Given the description of an element on the screen output the (x, y) to click on. 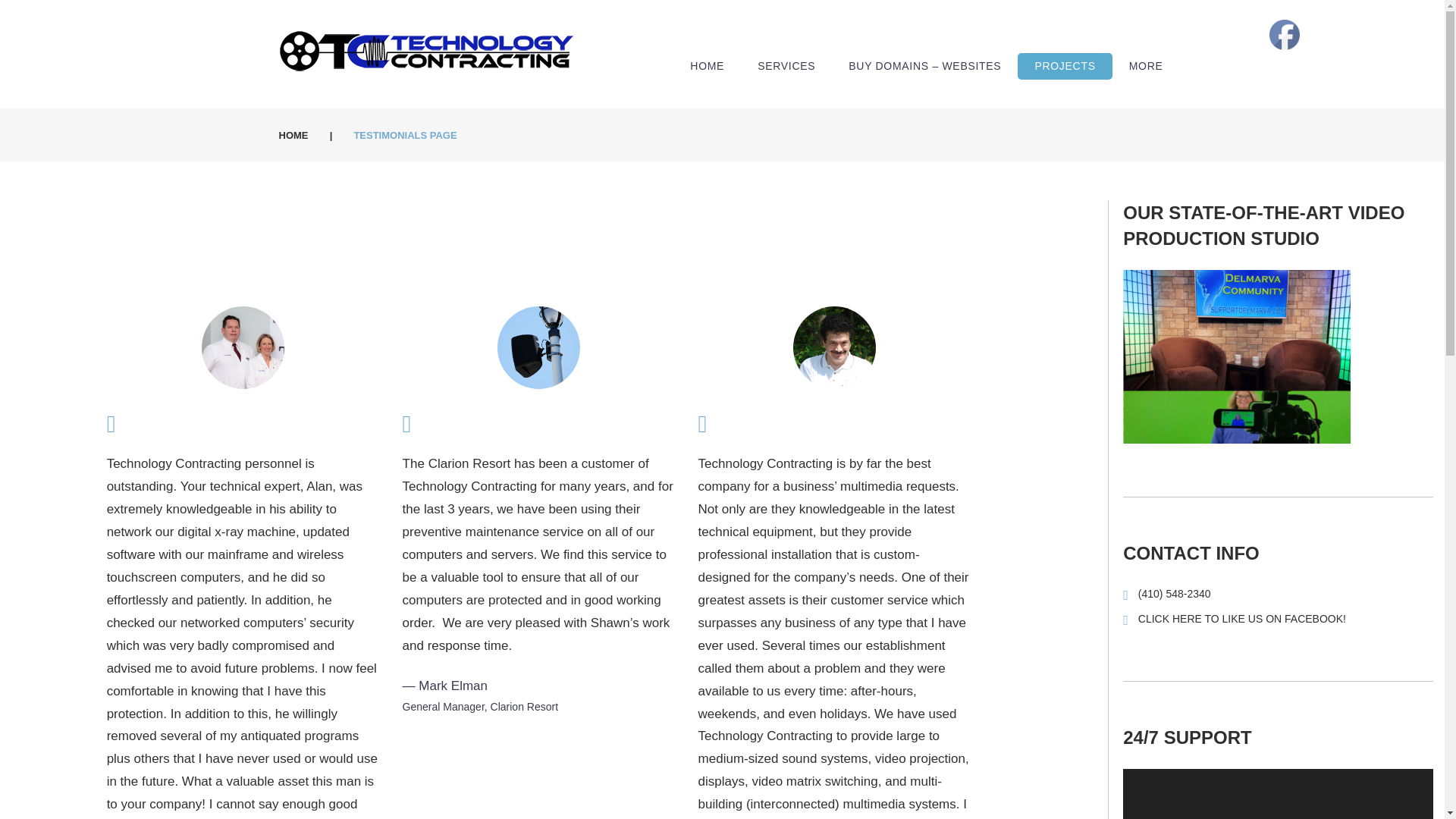
MORE (1145, 66)
HOME (706, 66)
Home (293, 134)
HOME (293, 134)
CLICK HERE TO LIKE US ON FACEBOOK! (1241, 618)
PROJECTS (1064, 66)
Facebook (1284, 34)
SERVICES (786, 66)
